Given the description of an element on the screen output the (x, y) to click on. 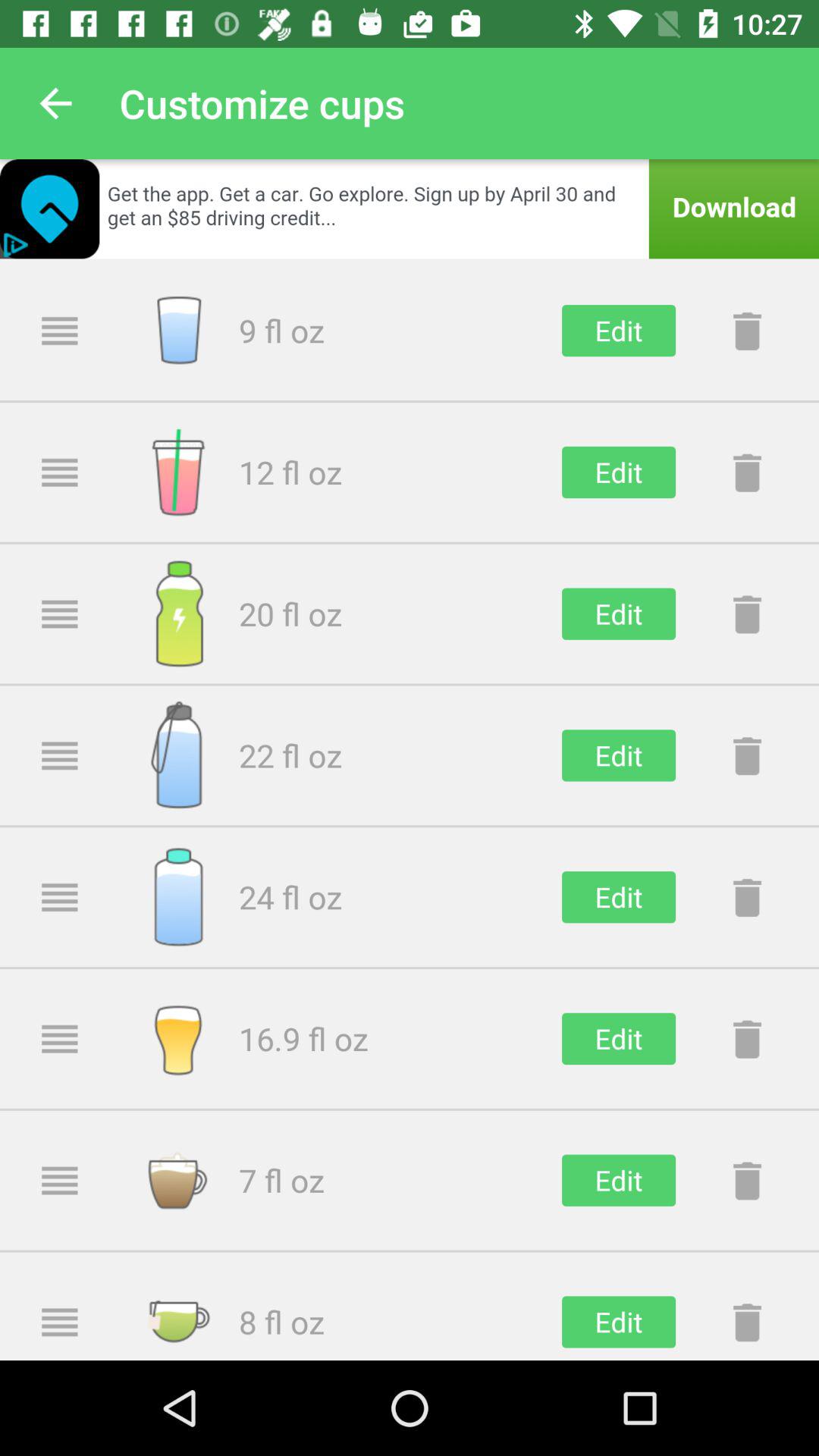
delete (747, 755)
